Given the description of an element on the screen output the (x, y) to click on. 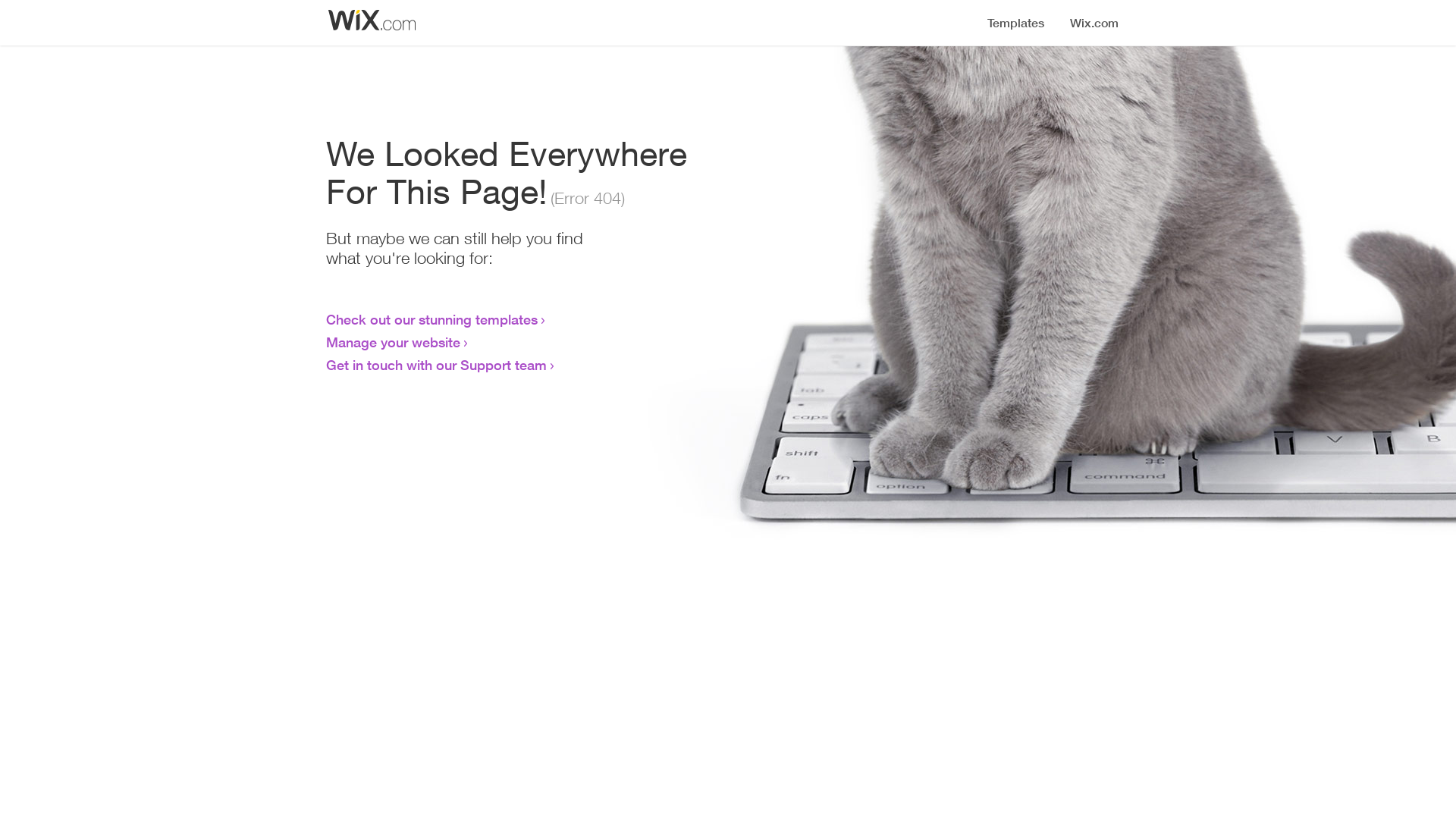
Manage your website Element type: text (393, 341)
Check out our stunning templates Element type: text (431, 318)
Get in touch with our Support team Element type: text (436, 364)
